Given the description of an element on the screen output the (x, y) to click on. 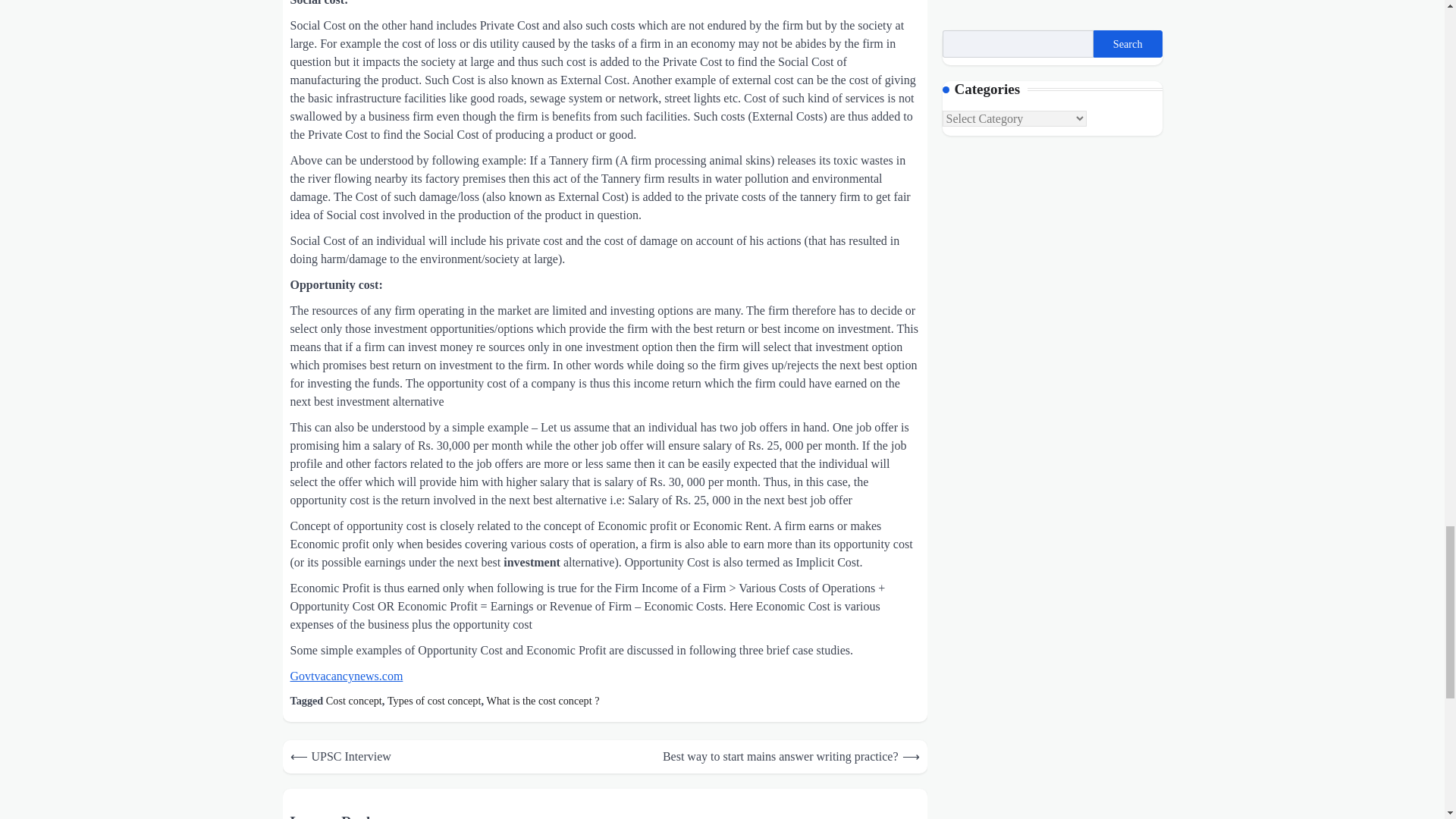
Cost concept (353, 700)
Govtvacancynews.com (346, 675)
What is the cost concept ? (542, 700)
Types of cost concept (434, 700)
